Given the description of an element on the screen output the (x, y) to click on. 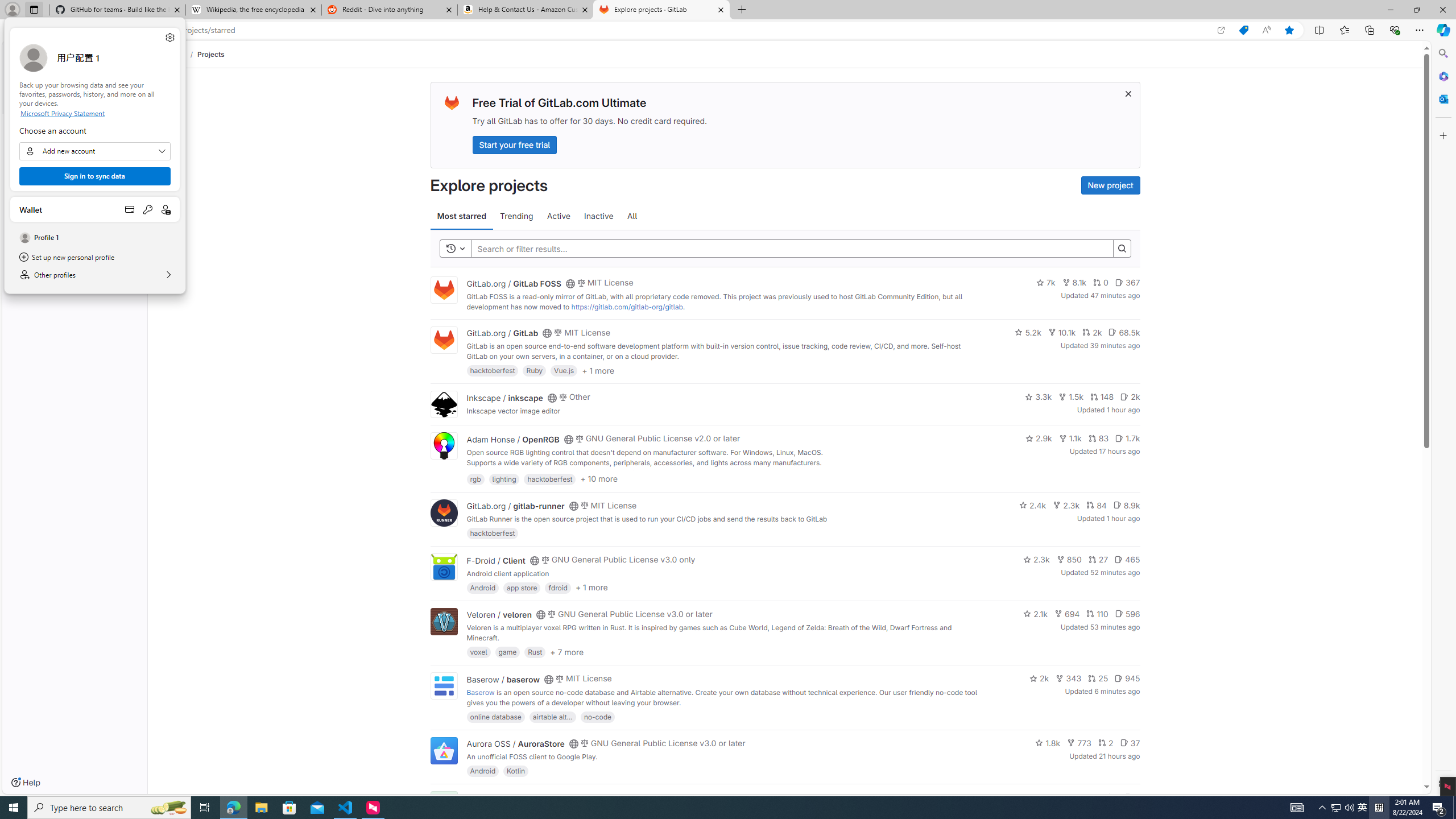
Active (559, 216)
Aurora OSS / AuroraStore (514, 743)
Manage profile settings (169, 37)
694 (1067, 613)
Tray Input Indicator - Chinese (Simplified, China) (1378, 807)
37 (1129, 742)
Microsoft Store (289, 807)
84 (1096, 504)
10.1k (1061, 331)
Android (482, 770)
1.7k (1127, 438)
F (443, 805)
1.4k (1054, 797)
